Given the description of an element on the screen output the (x, y) to click on. 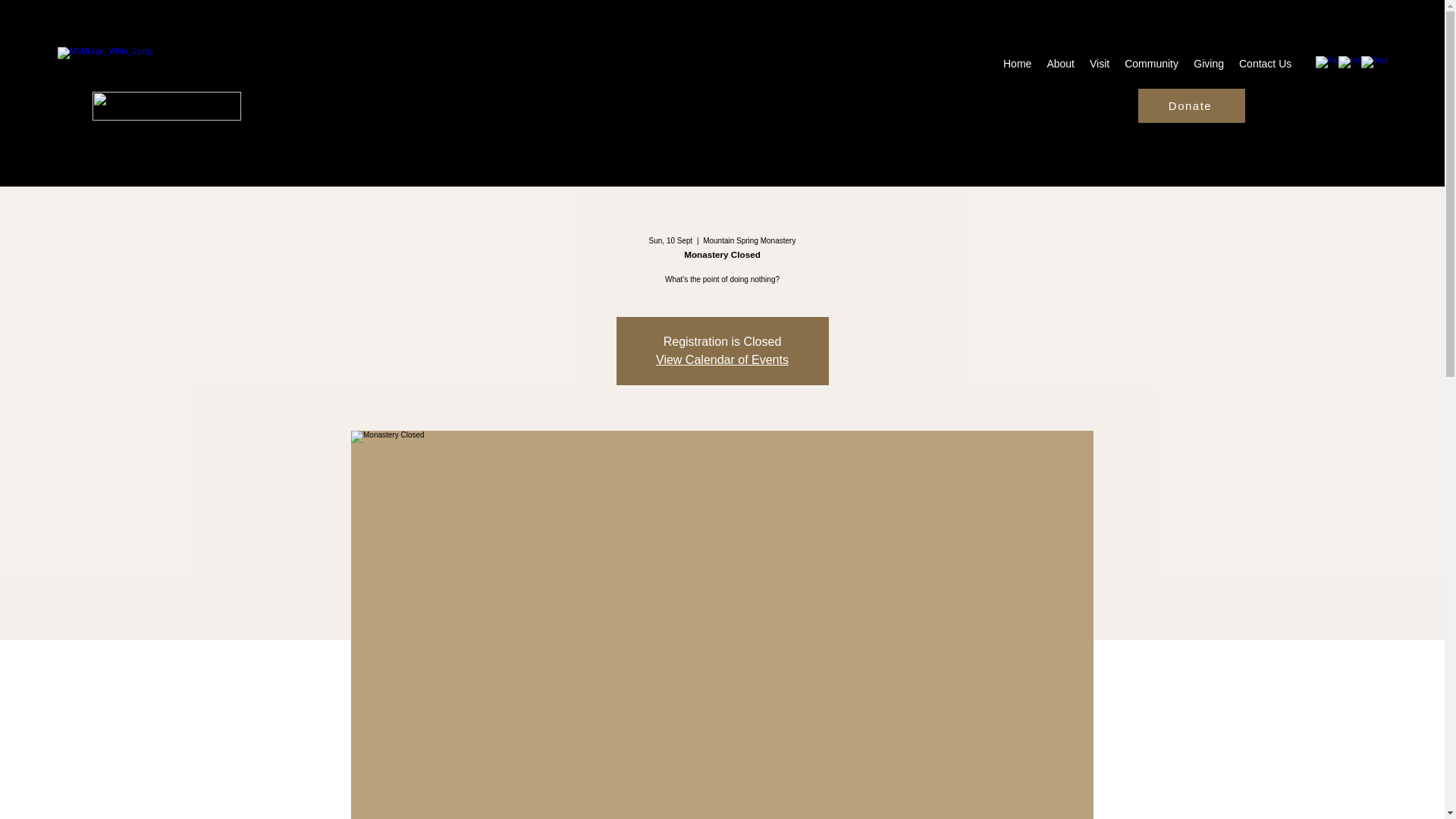
View Calendar of Events (722, 359)
Giving (1208, 63)
Community (1151, 63)
About (1060, 63)
Visit (1098, 63)
Contact Us (1264, 63)
Donate (1191, 105)
Home (1017, 63)
